Given the description of an element on the screen output the (x, y) to click on. 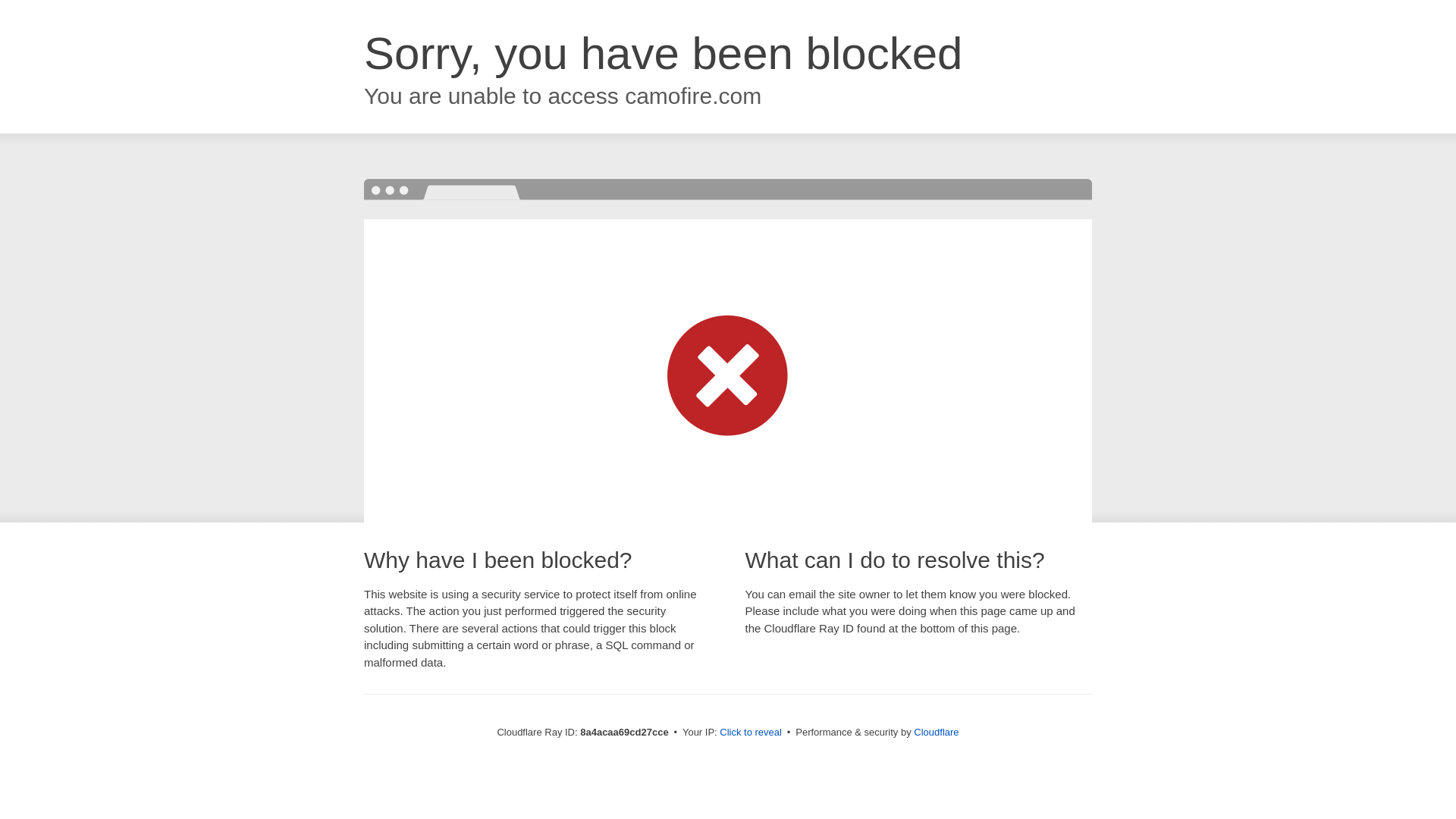
Click to reveal (750, 732)
Cloudflare (936, 731)
